Given the description of an element on the screen output the (x, y) to click on. 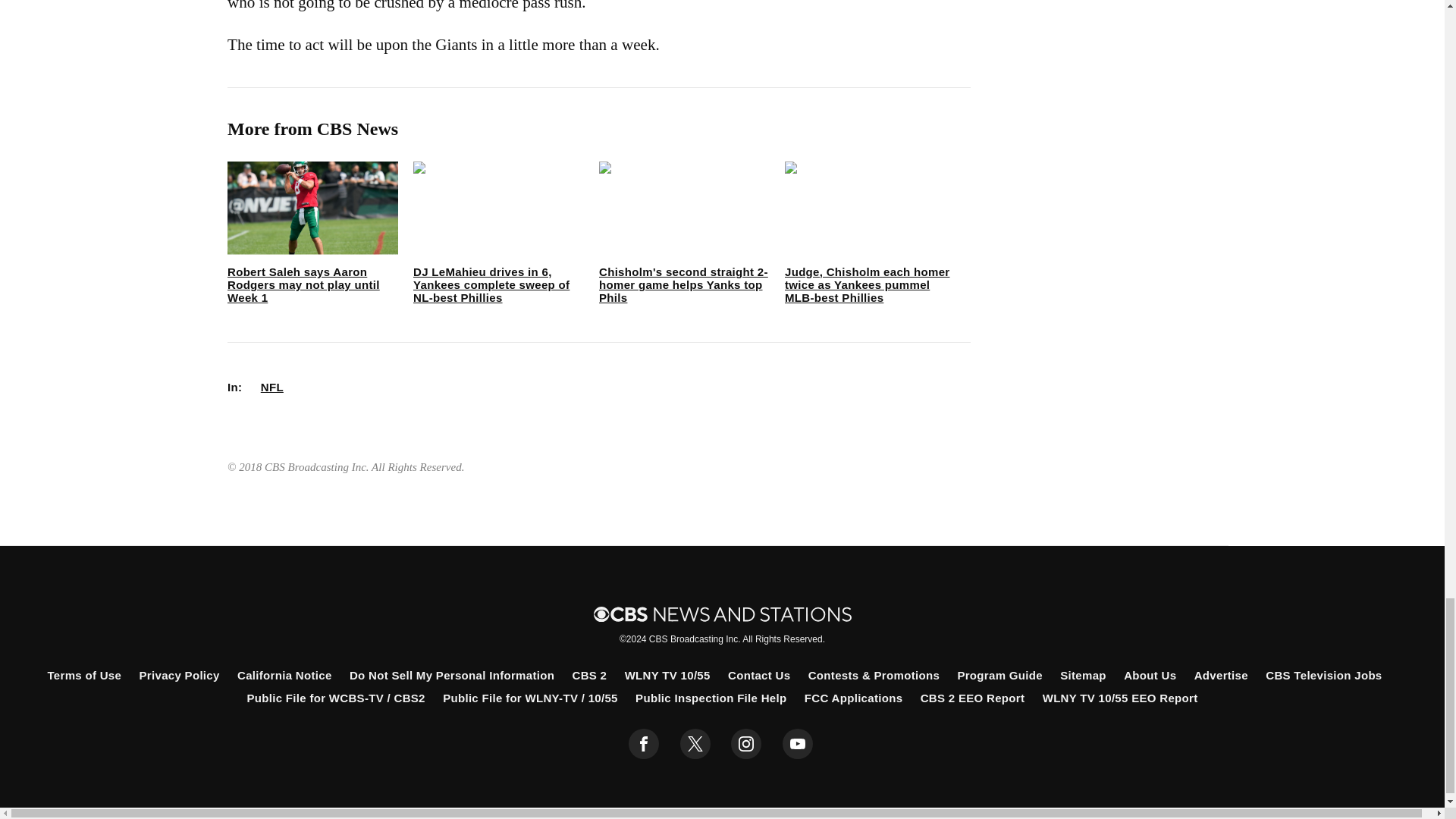
twitter (694, 743)
facebook (643, 743)
instagram (745, 743)
youtube (797, 743)
